Given the description of an element on the screen output the (x, y) to click on. 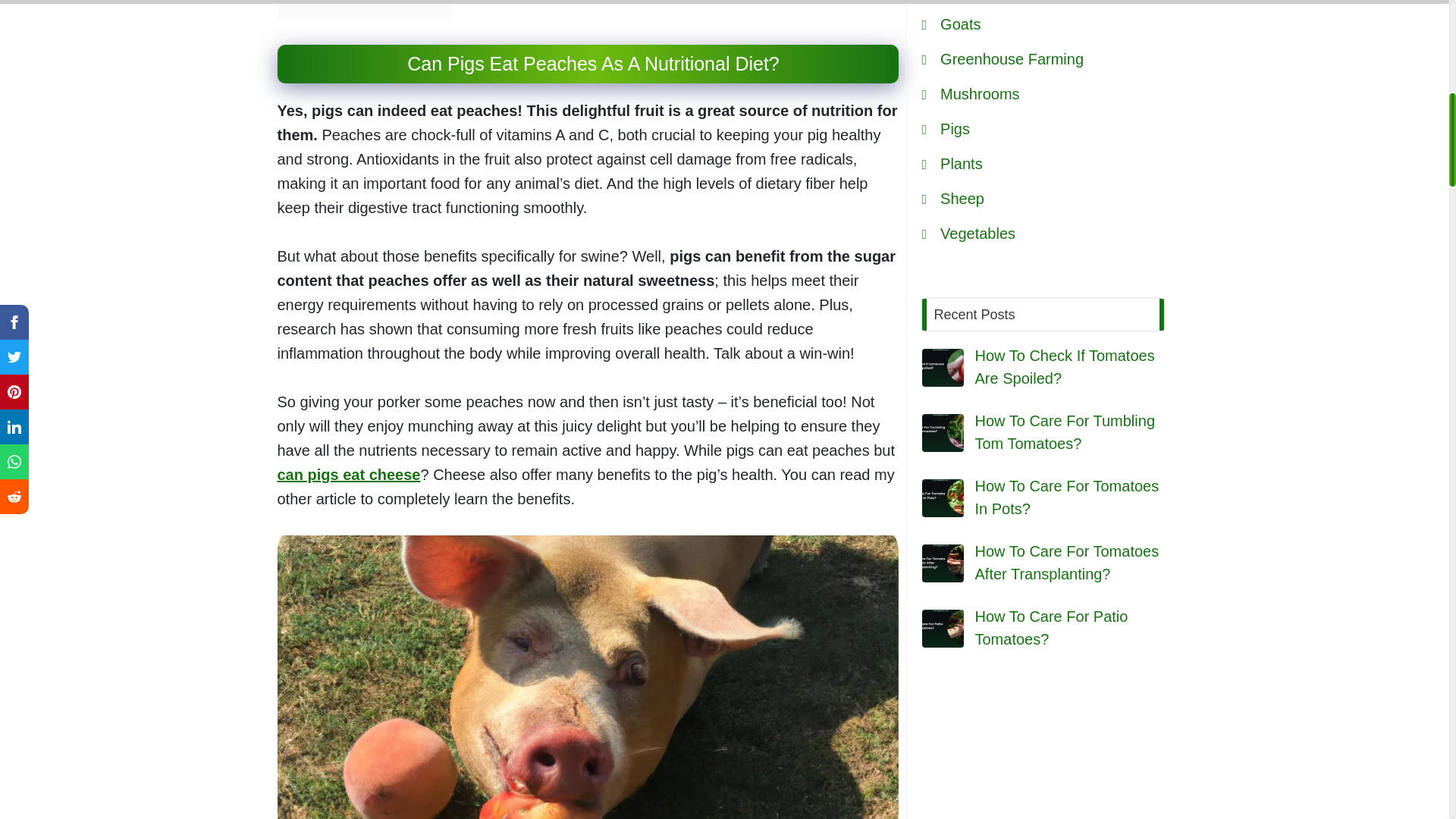
How To Check If Tomatoes Are Spoiled? (942, 367)
How To Care For Patio Tomatoes? (942, 628)
How To Care For Tomatoes In Pots? (942, 497)
How To Care For Tomatoes After Transplanting? (942, 563)
How To Care For Tumbling Tom Tomatoes? (942, 433)
